Given the description of an element on the screen output the (x, y) to click on. 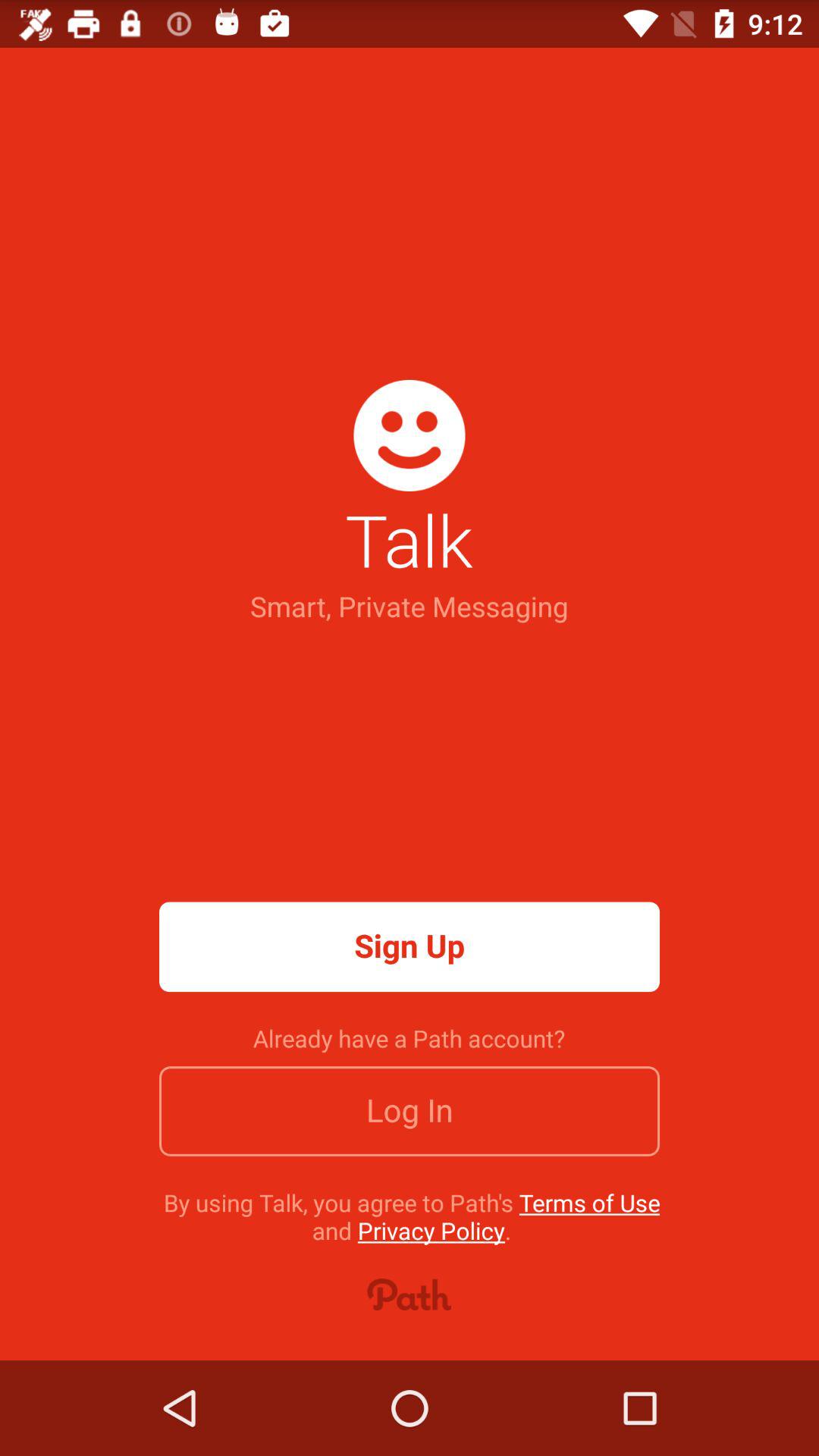
jump until the sign up item (409, 946)
